Given the description of an element on the screen output the (x, y) to click on. 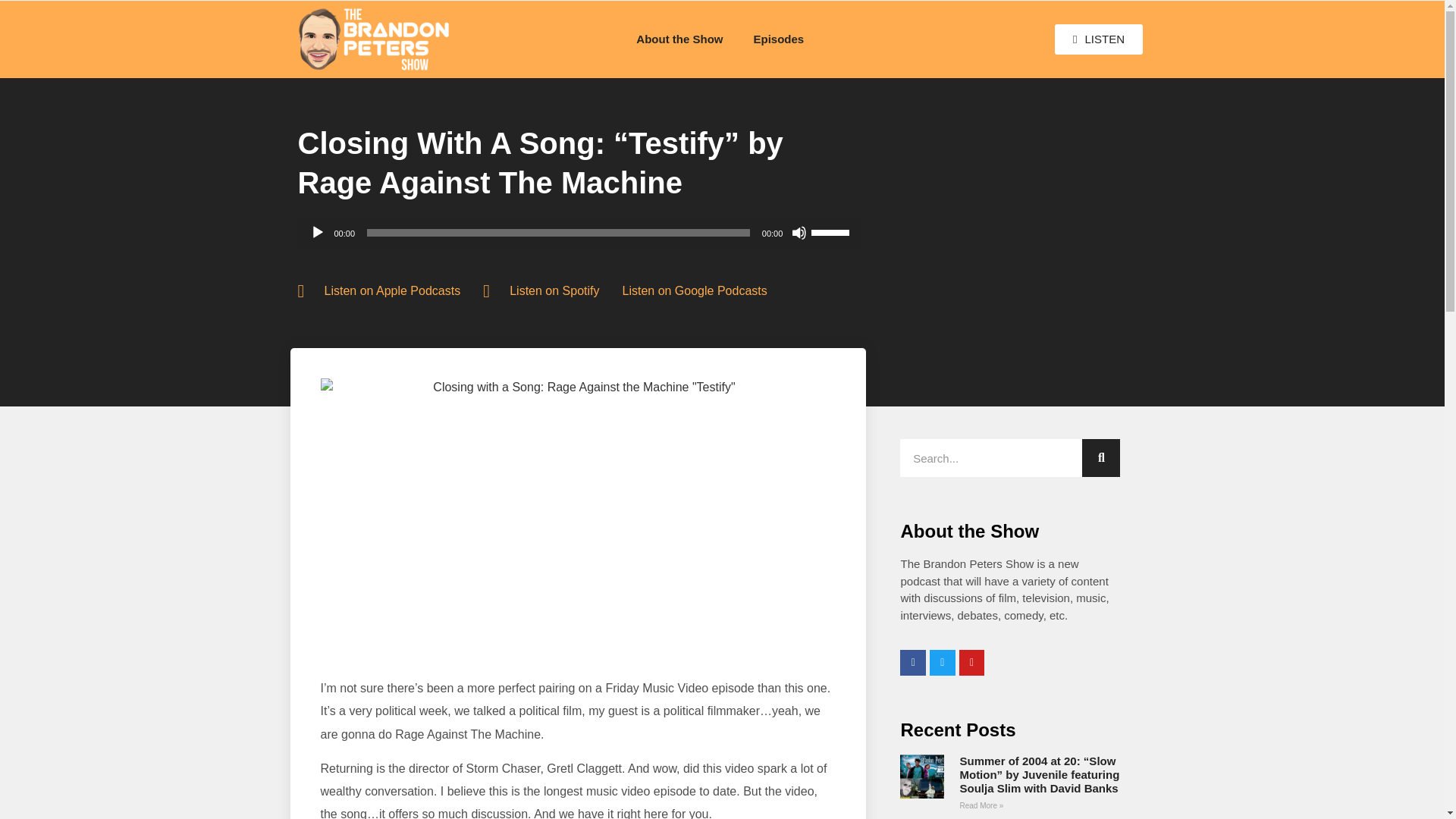
Mute (799, 232)
Play (316, 232)
Listen on Google Podcasts (694, 290)
Listen on Apple Podcasts (378, 290)
Episodes (778, 39)
LISTEN (1098, 39)
About the Show (679, 39)
Listen on Spotify (540, 290)
